Given the description of an element on the screen output the (x, y) to click on. 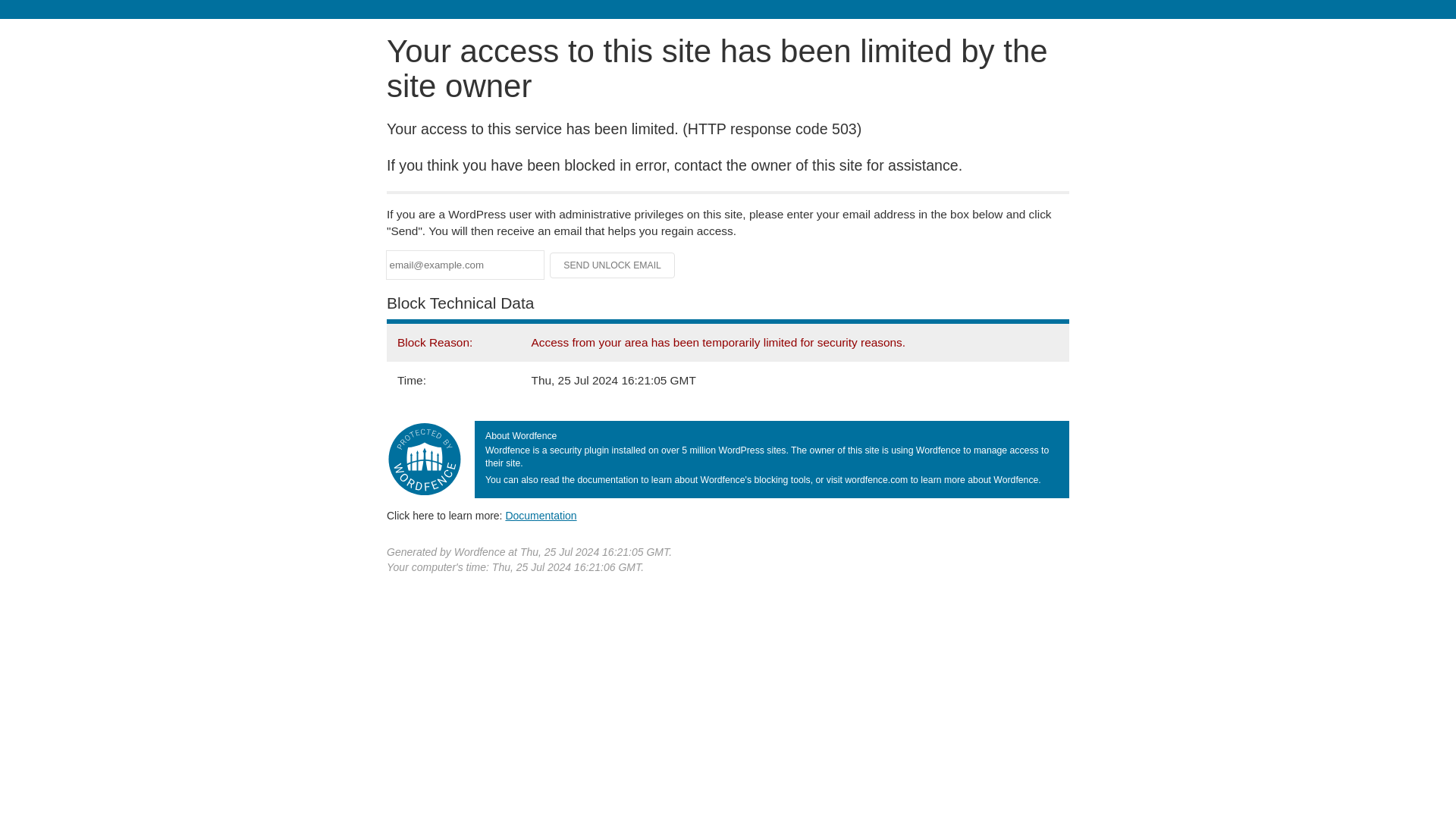
Send Unlock Email (612, 265)
Send Unlock Email (612, 265)
Documentation (540, 515)
